Given the description of an element on the screen output the (x, y) to click on. 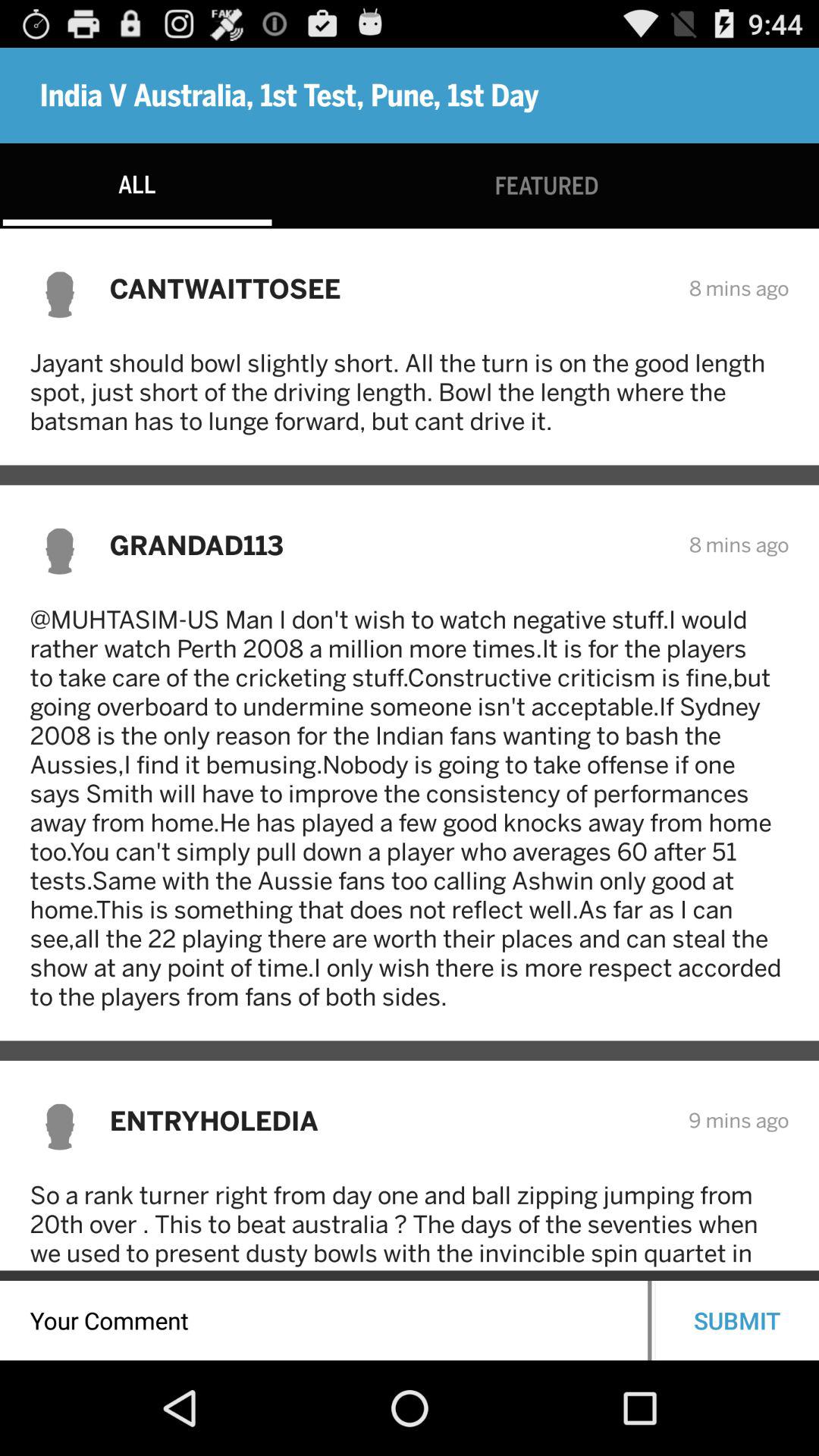
enter your comment here (323, 1320)
